Given the description of an element on the screen output the (x, y) to click on. 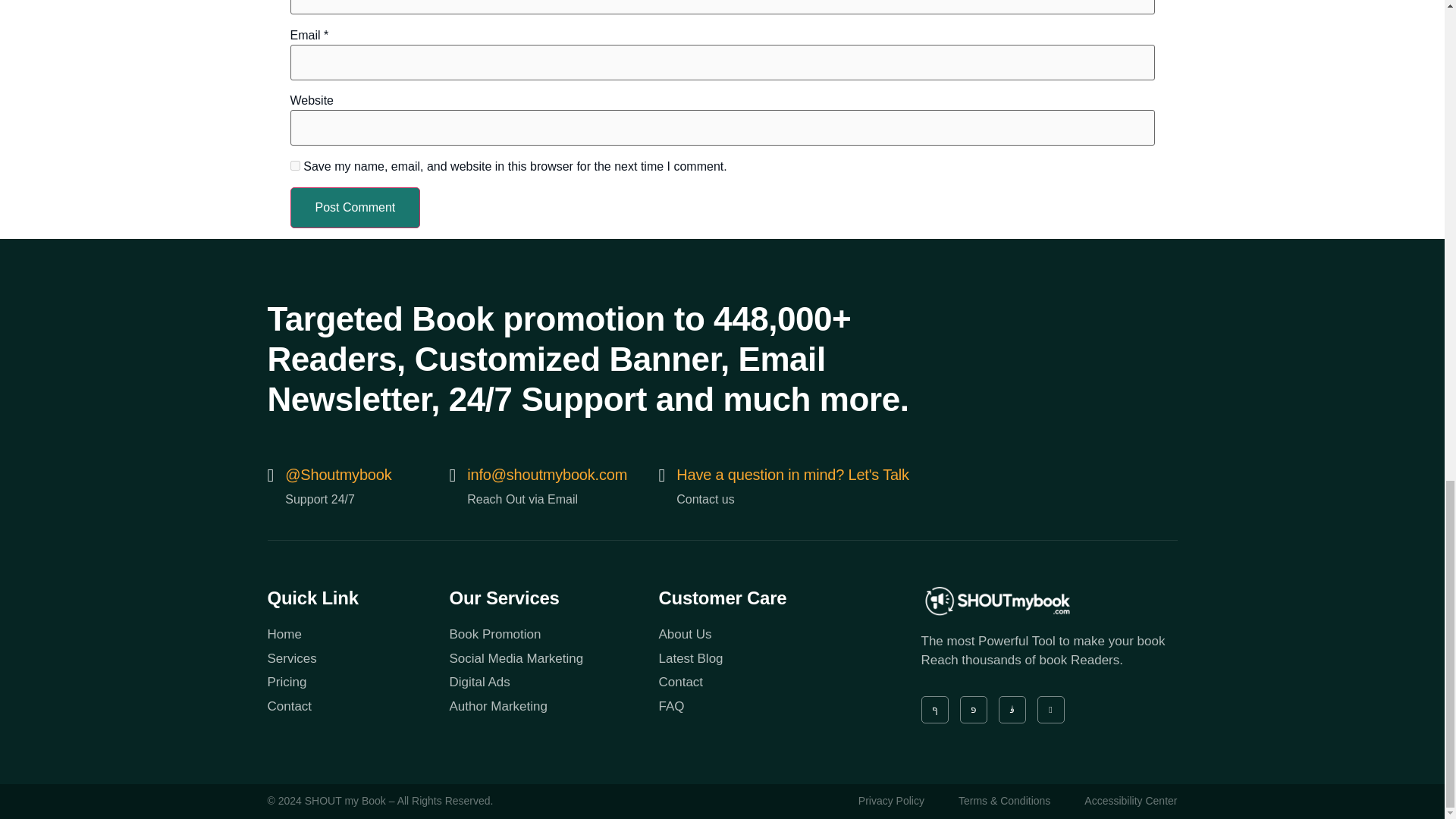
Pricing (357, 682)
Post Comment (354, 207)
Contact (357, 706)
Post Comment (354, 207)
Digital Ads (553, 682)
Author Marketing (553, 706)
Contact (762, 682)
Services (357, 659)
FAQ (762, 706)
Home (357, 634)
Social Media Marketing (553, 659)
Book Promotion (553, 634)
yes (294, 165)
Privacy Policy (891, 801)
Latest Blog (762, 659)
